Given the description of an element on the screen output the (x, y) to click on. 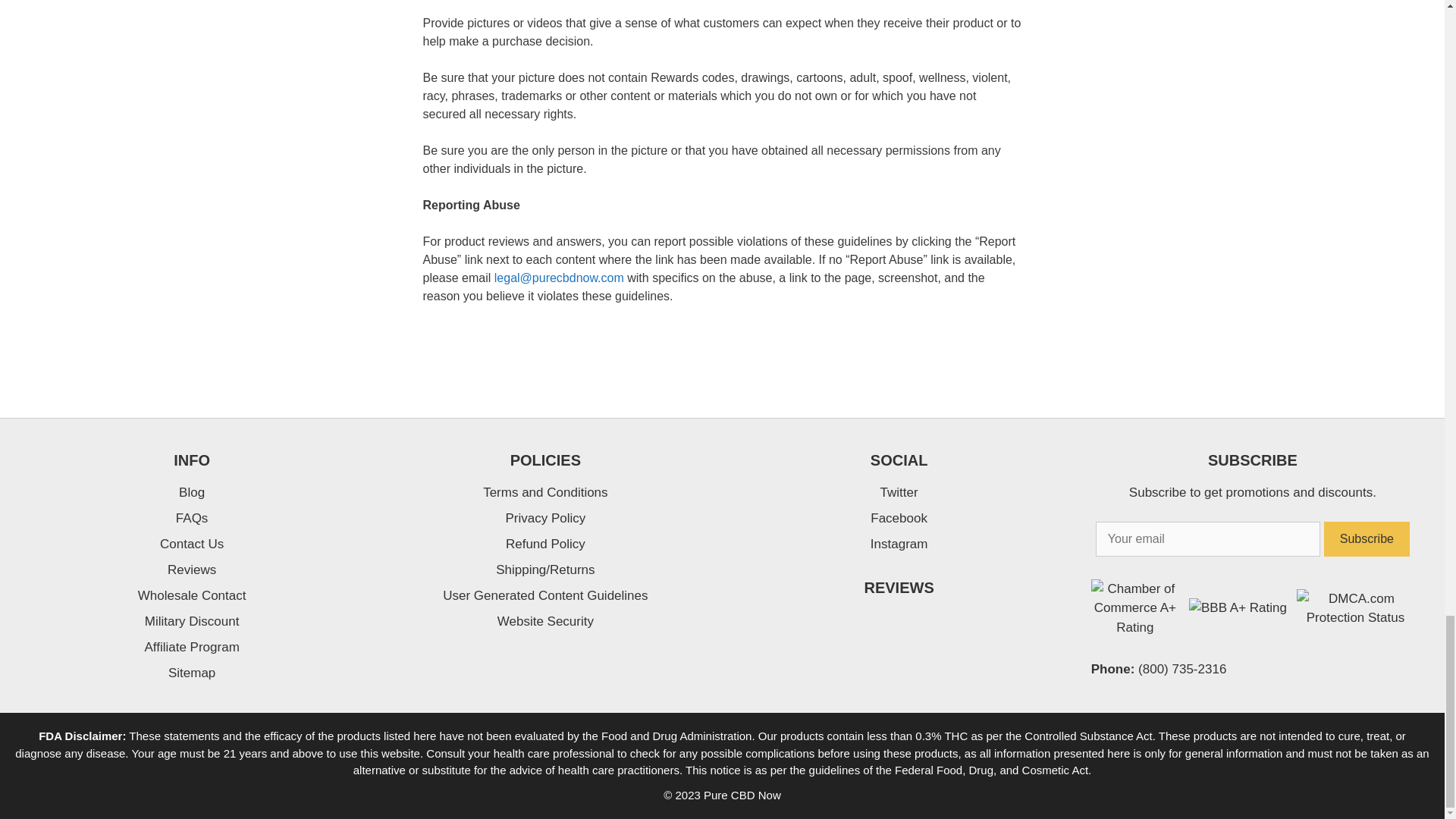
DMCA.com Protection Status (1355, 617)
